Given the description of an element on the screen output the (x, y) to click on. 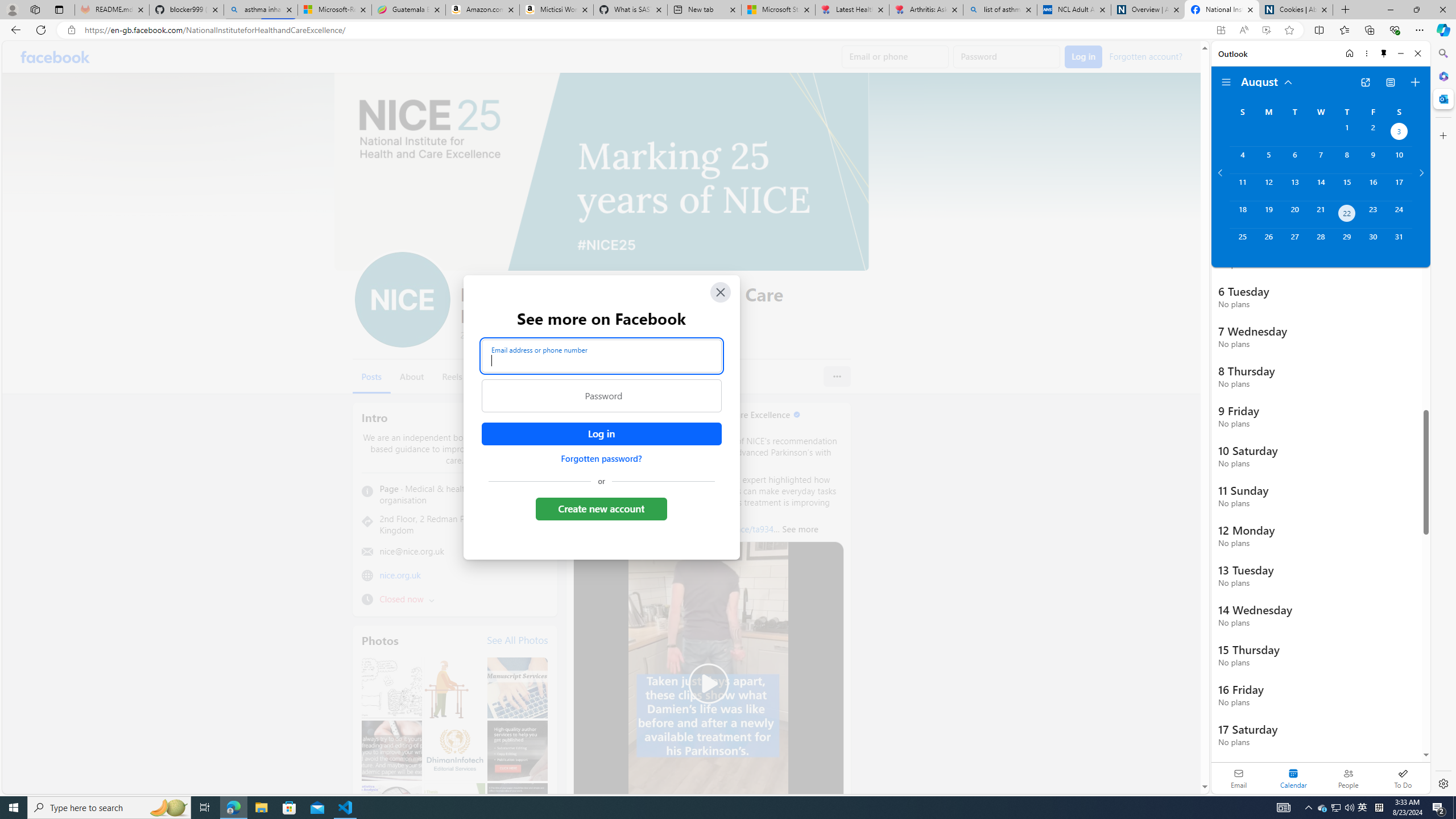
View Switcher. Current view is Agenda view (1390, 82)
Cookies | About | NICE (1295, 9)
Forgotten password? (601, 458)
Thursday, August 22, 2024. Today.  (1346, 214)
Accessible login button (601, 433)
Sunday, August 25, 2024.  (1242, 241)
